Given the description of an element on the screen output the (x, y) to click on. 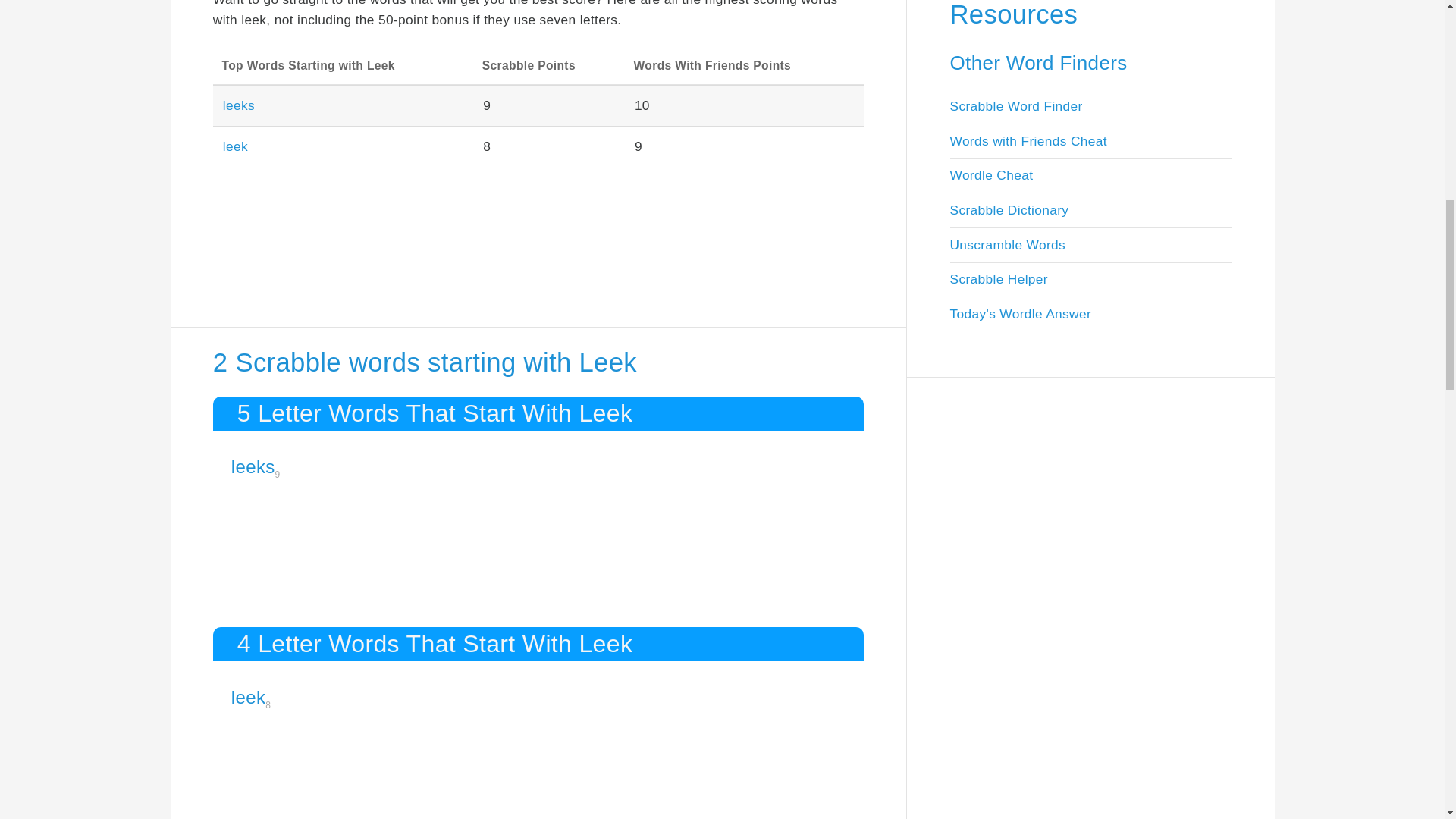
leeks (253, 466)
leek (234, 145)
leeks (238, 105)
leek (247, 697)
